Given the description of an element on the screen output the (x, y) to click on. 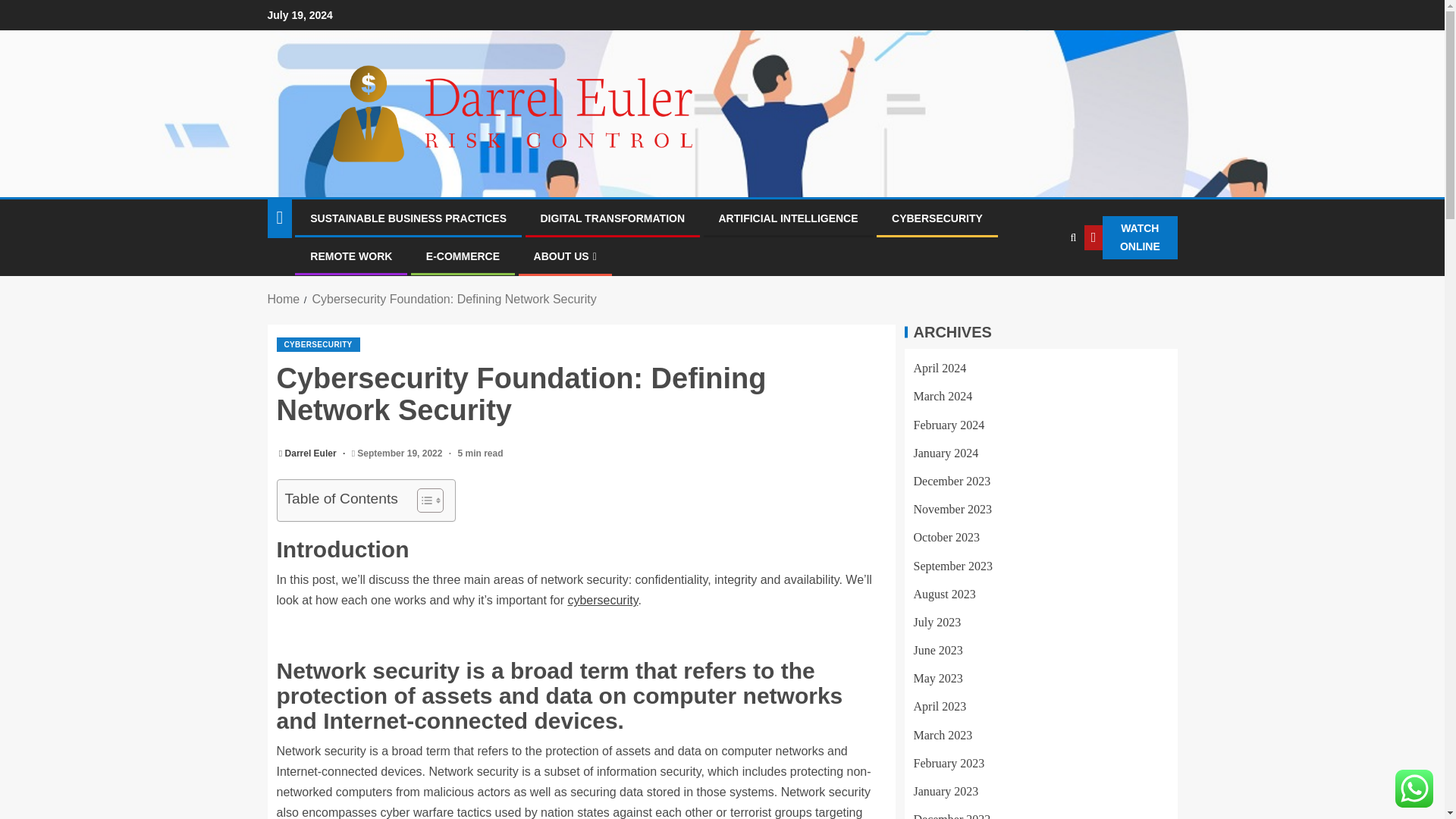
ARTIFICIAL INTELLIGENCE (789, 218)
E-COMMERCE (462, 256)
REMOTE WORK (350, 256)
CYBERSECURITY (936, 218)
WATCH ONLINE (1130, 238)
CYBERSECURITY (317, 344)
Search (1041, 284)
Search (1072, 237)
DIGITAL TRANSFORMATION (612, 218)
SUSTAINABLE BUSINESS PRACTICES (408, 218)
Cybersecurity Foundation: Defining Network Security (453, 298)
Home (282, 298)
ABOUT US (565, 256)
cybersecurity (602, 599)
Darrel Euler (312, 452)
